Given the description of an element on the screen output the (x, y) to click on. 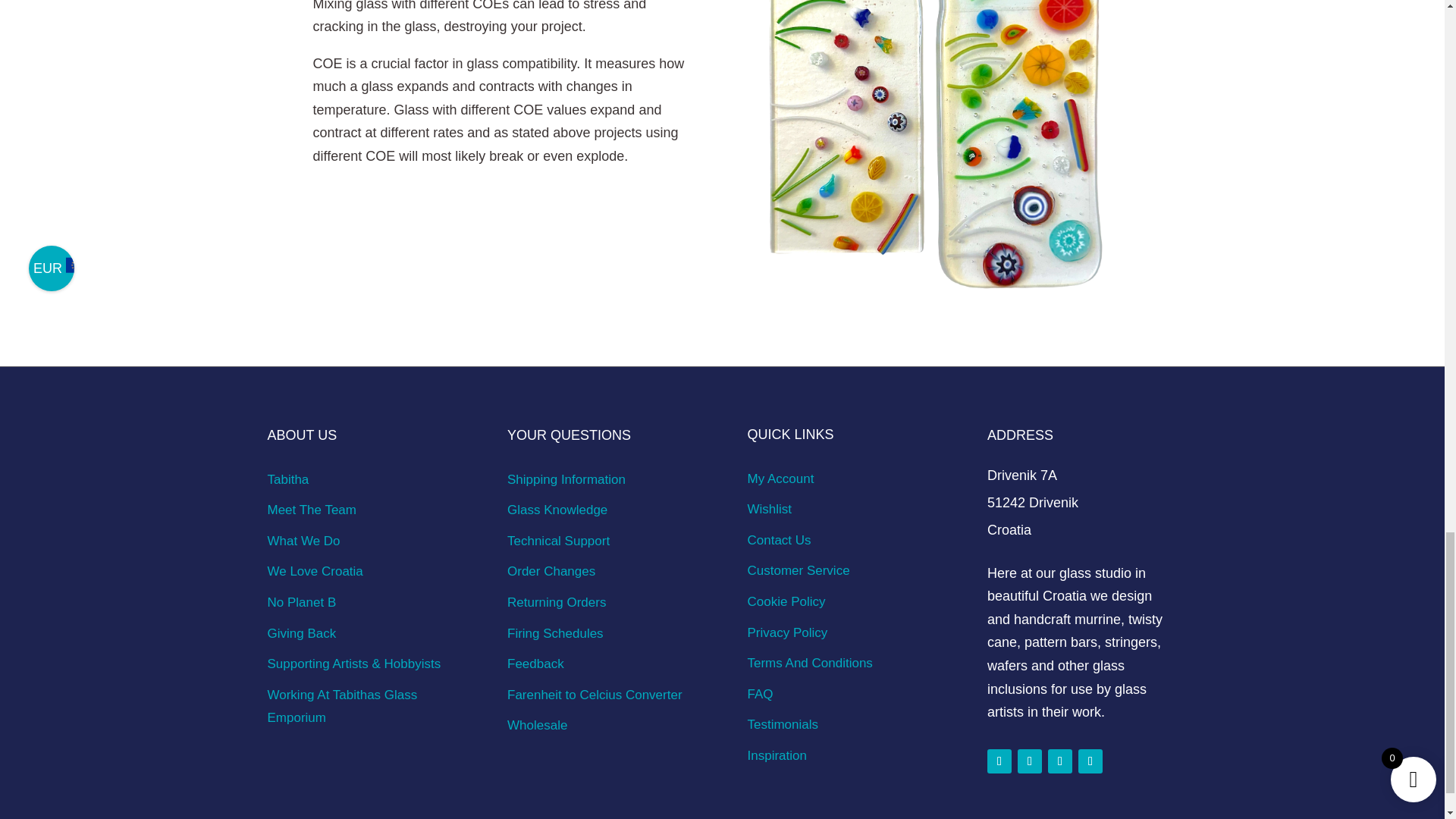
Follow on Youtube (1090, 761)
Follow on Instagram (1029, 761)
Follow on Pinterest (1059, 761)
MIXING DIFFERENT COE (937, 152)
Follow on Facebook (999, 761)
